Given the description of an element on the screen output the (x, y) to click on. 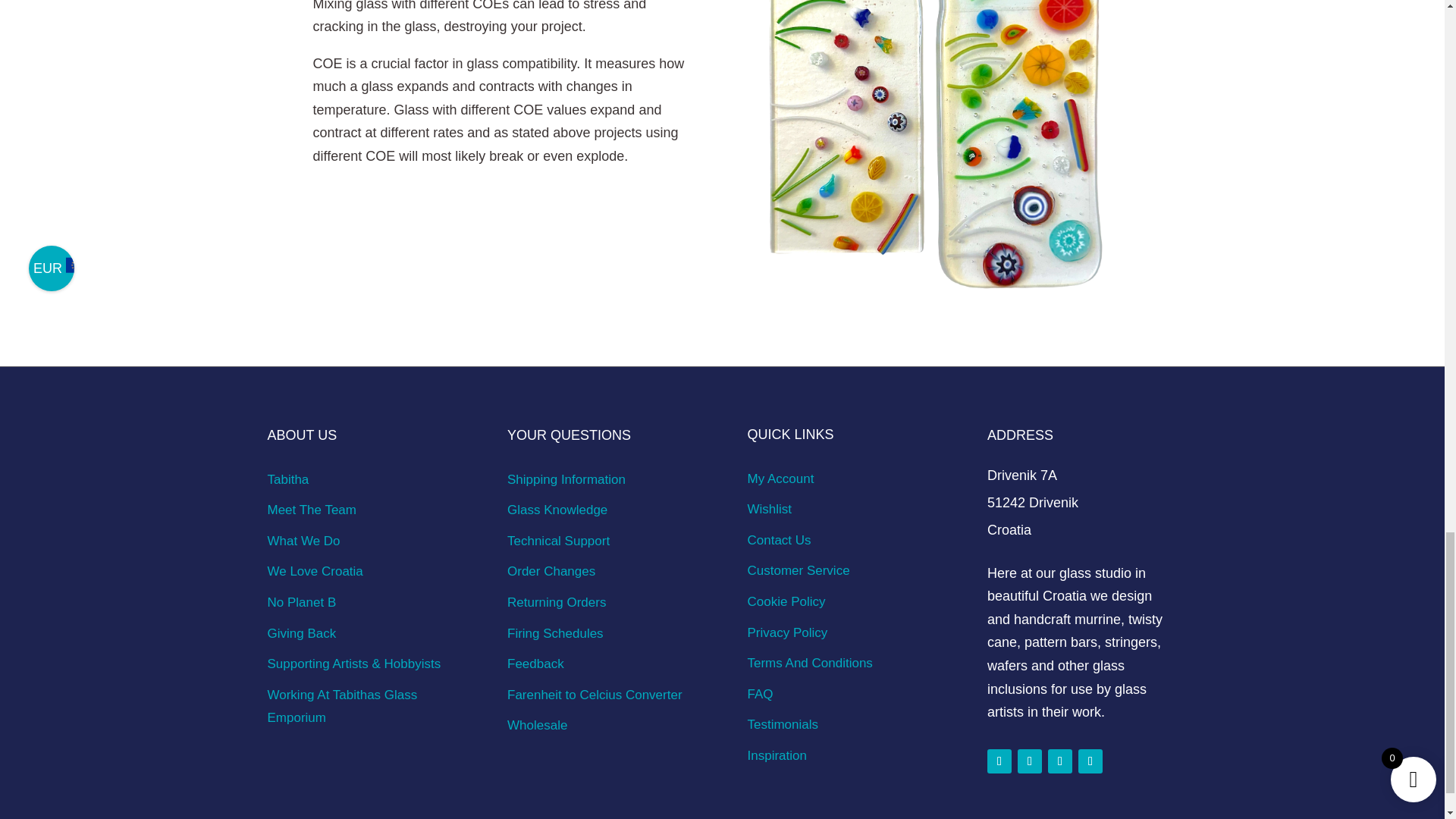
Follow on Youtube (1090, 761)
Follow on Instagram (1029, 761)
Follow on Pinterest (1059, 761)
MIXING DIFFERENT COE (937, 152)
Follow on Facebook (999, 761)
